Given the description of an element on the screen output the (x, y) to click on. 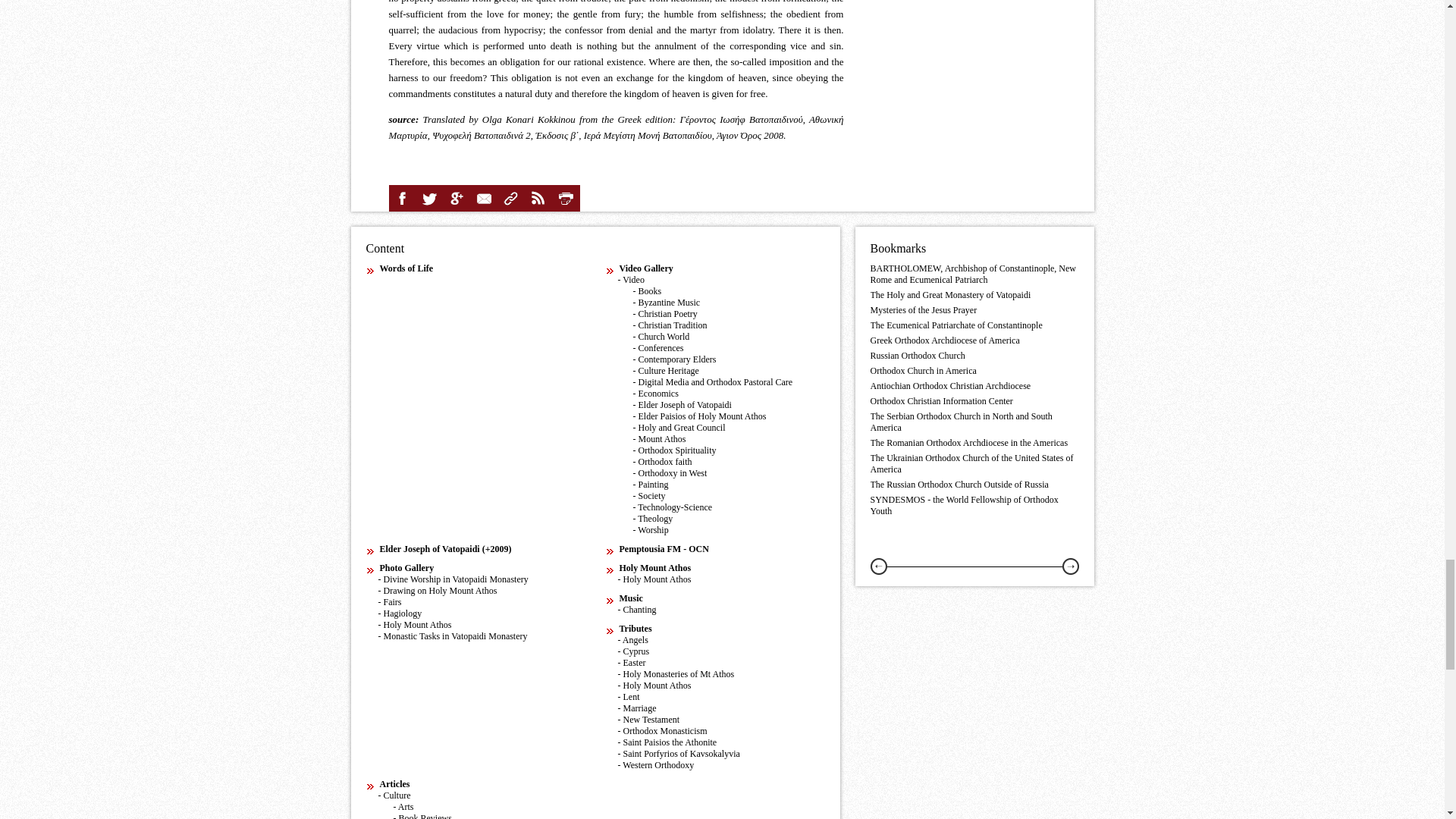
Send this page to Facebook (402, 198)
Print This Page (566, 198)
Get short URL (511, 198)
